Given the description of an element on the screen output the (x, y) to click on. 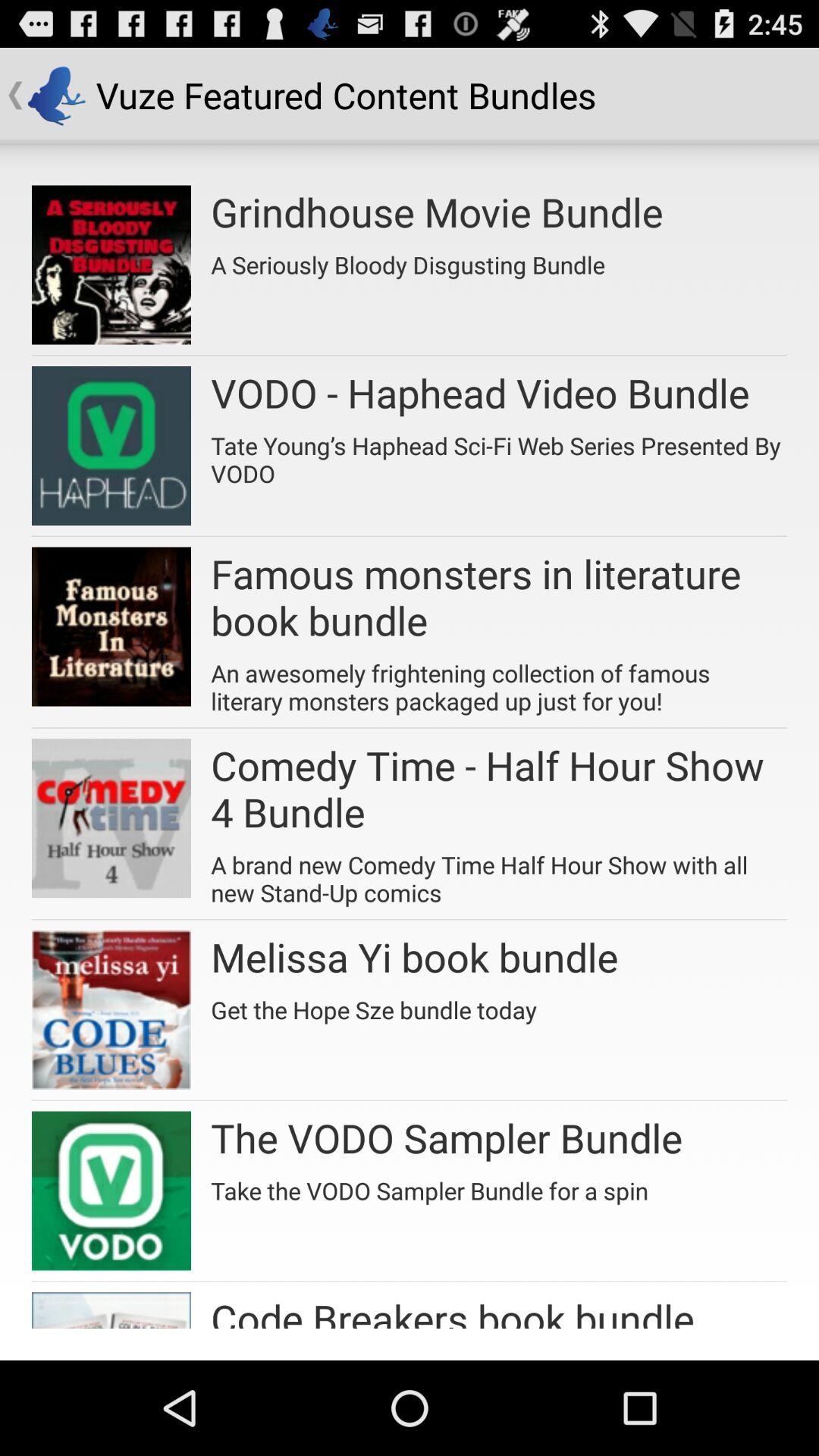
press the icon above the vodo haphead video icon (408, 259)
